Given the description of an element on the screen output the (x, y) to click on. 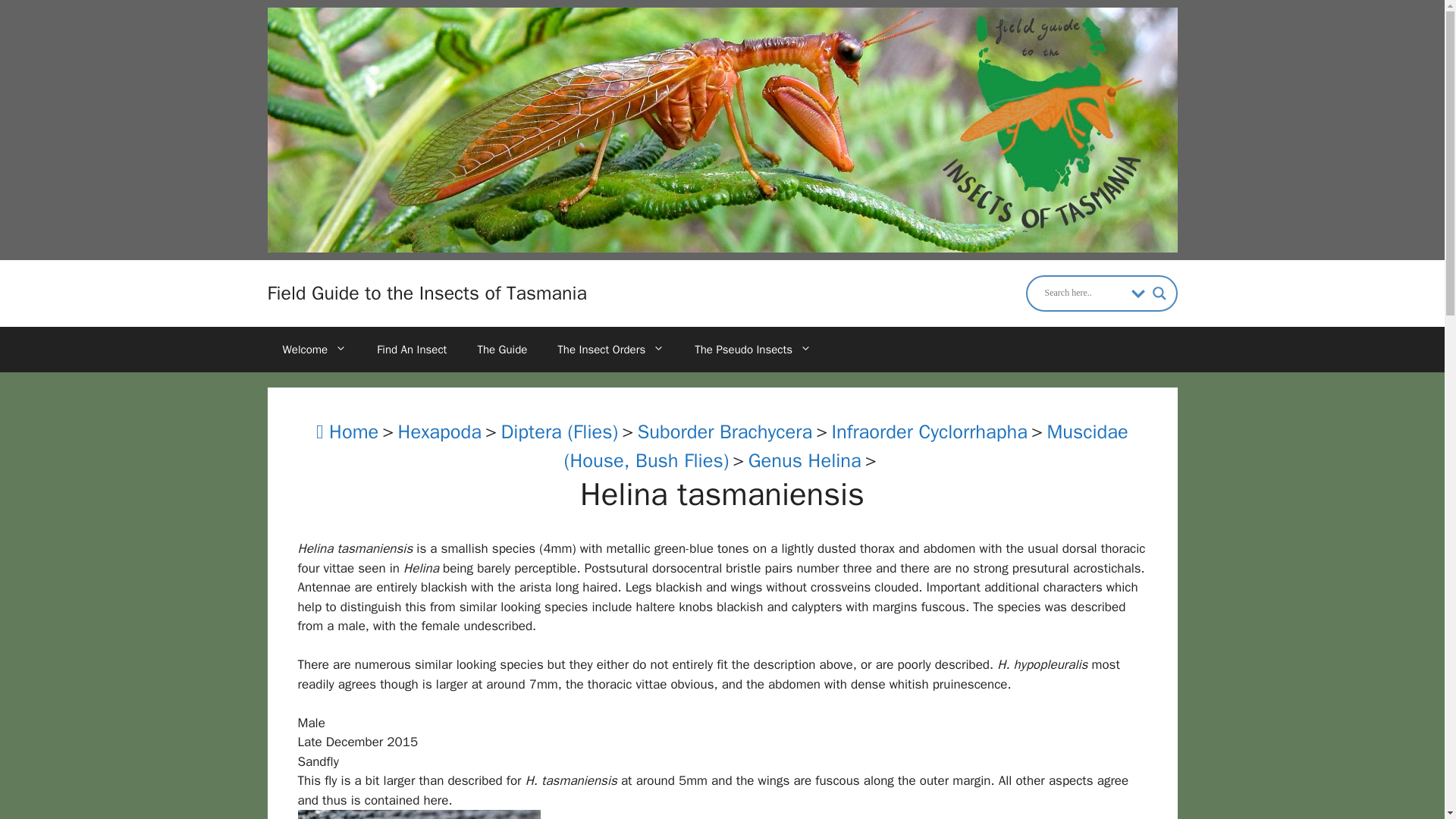
The Insect Orders (610, 349)
Field Guide to the Insects of Tasmania (426, 292)
The Guide (501, 349)
Find An Insect (411, 349)
Welcome (313, 349)
